Given the description of an element on the screen output the (x, y) to click on. 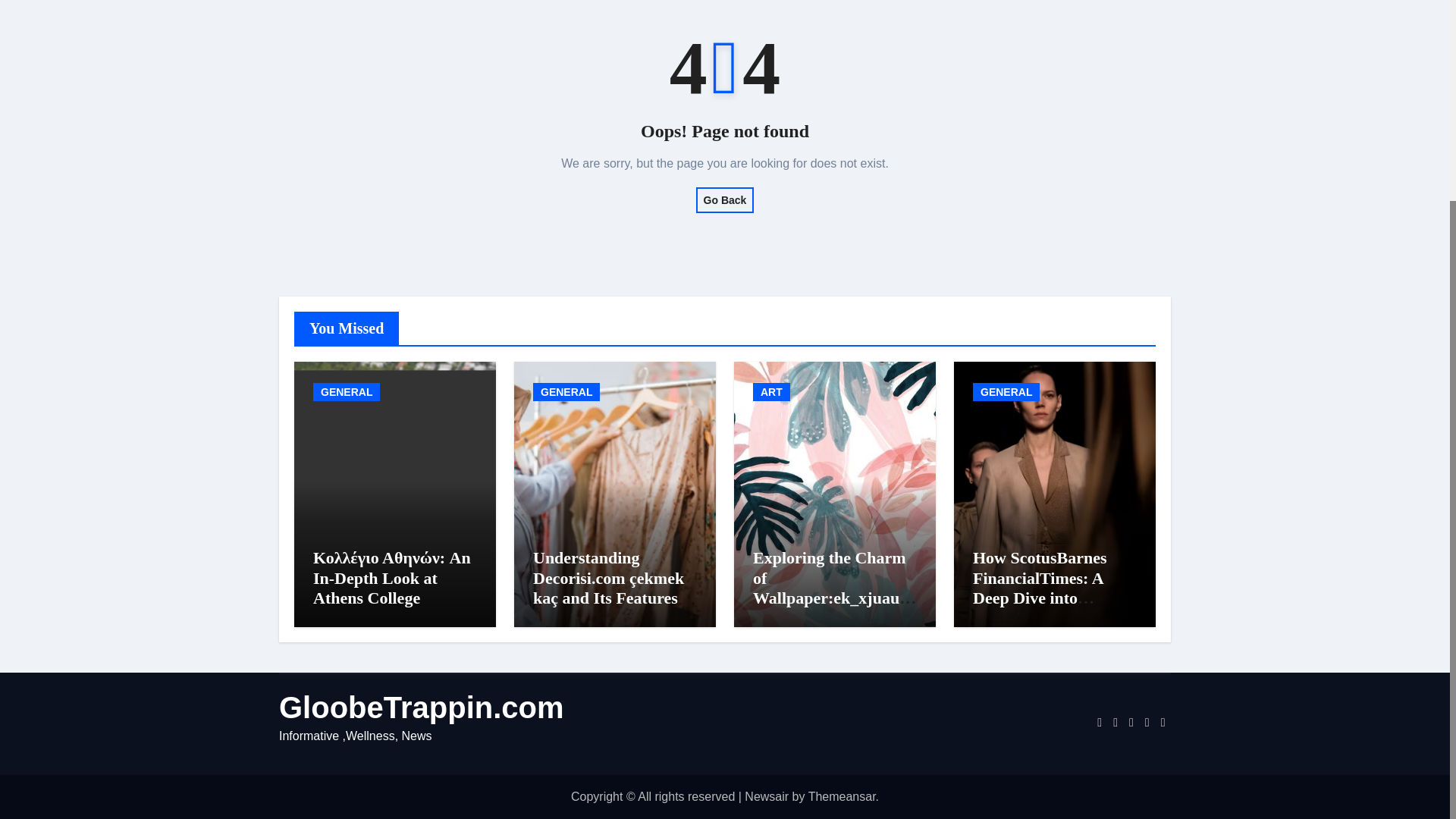
GENERAL (346, 392)
Go Back (724, 199)
GENERAL (565, 392)
